Given the description of an element on the screen output the (x, y) to click on. 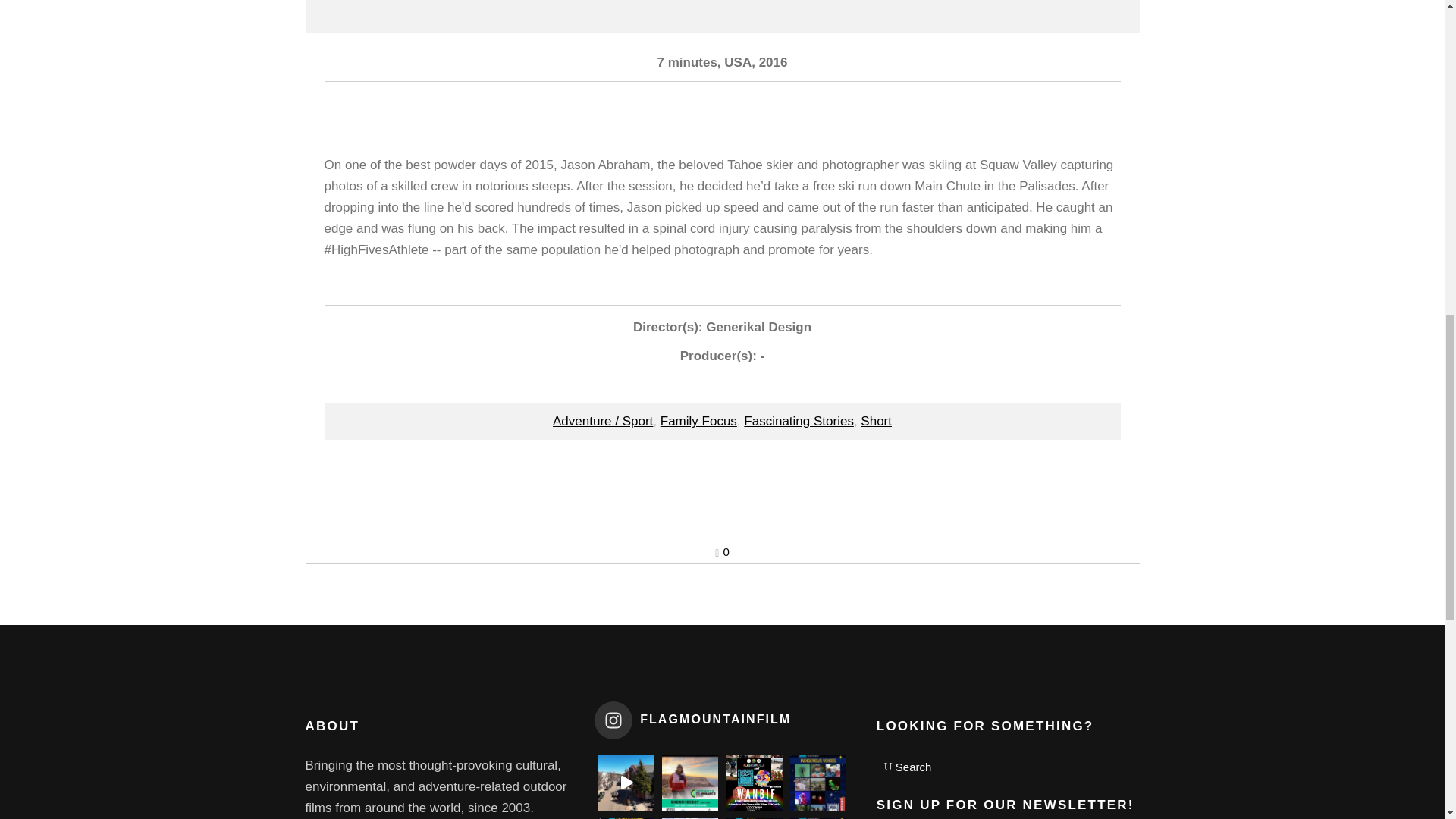
Like this (721, 551)
